Given the description of an element on the screen output the (x, y) to click on. 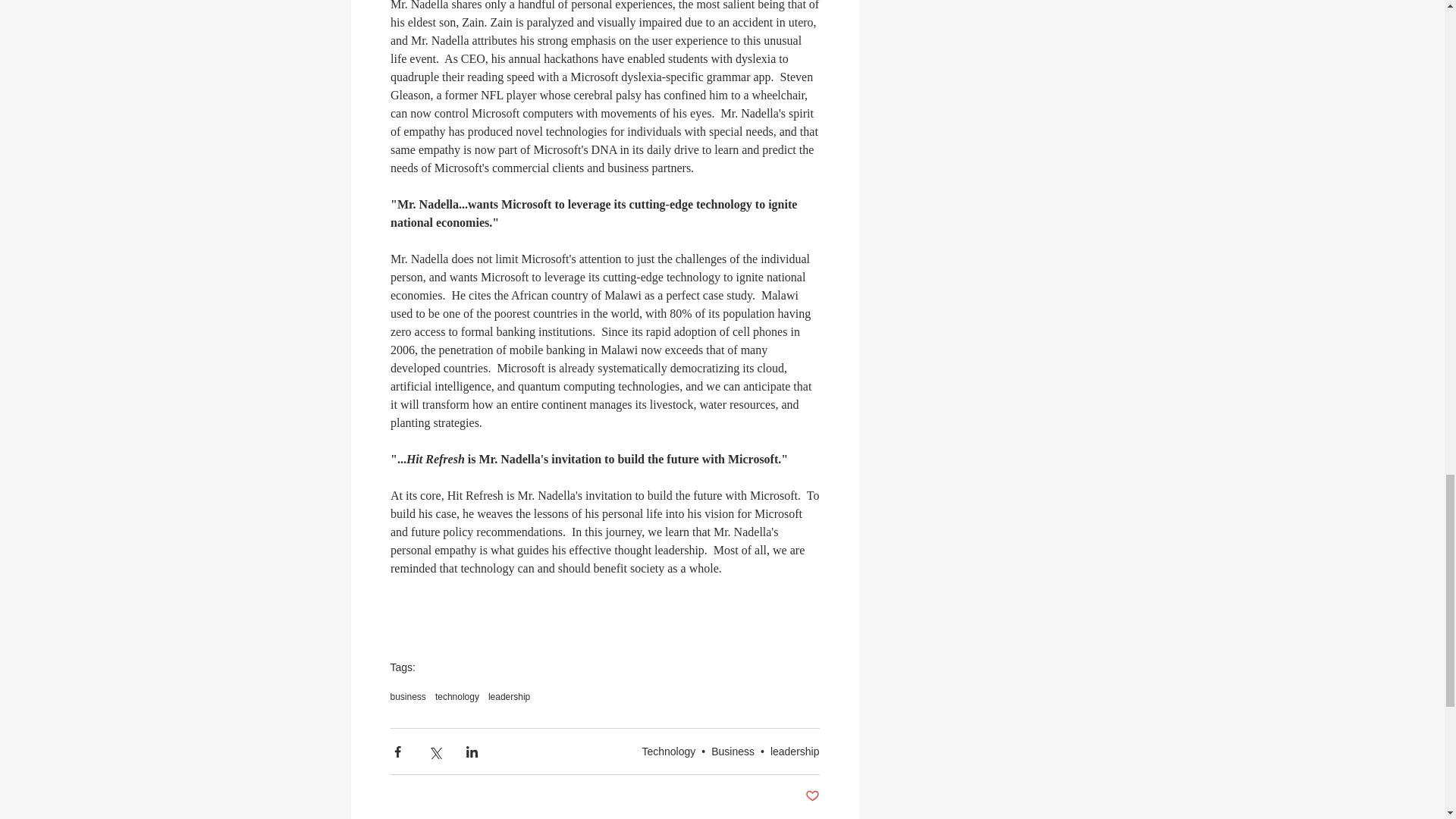
Business (732, 751)
Technology (668, 751)
Post not marked as liked (812, 796)
technology (457, 696)
leadership (794, 751)
business (407, 696)
leadership (508, 696)
